Given the description of an element on the screen output the (x, y) to click on. 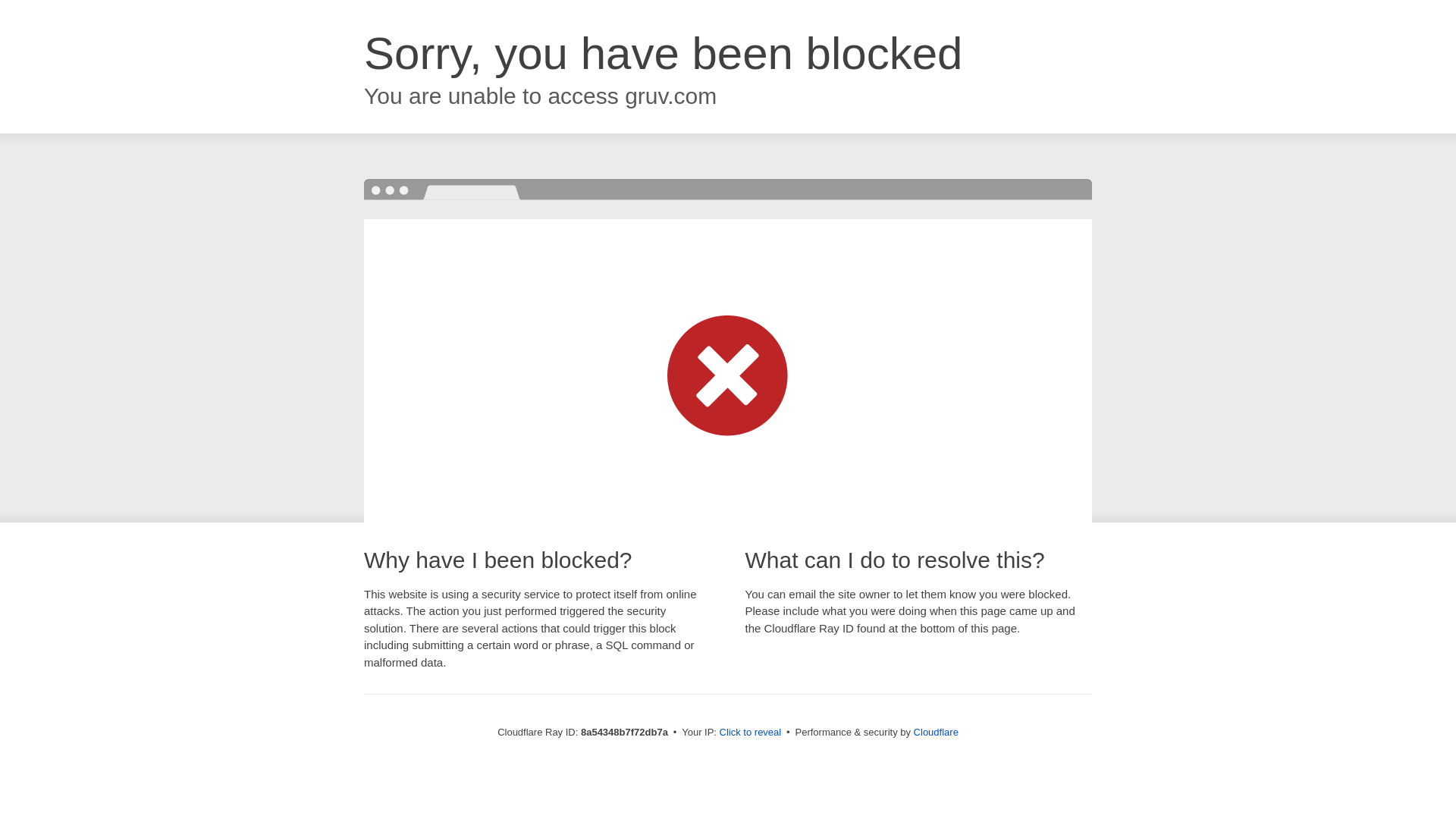
Cloudflare (936, 731)
Click to reveal (750, 732)
